Given the description of an element on the screen output the (x, y) to click on. 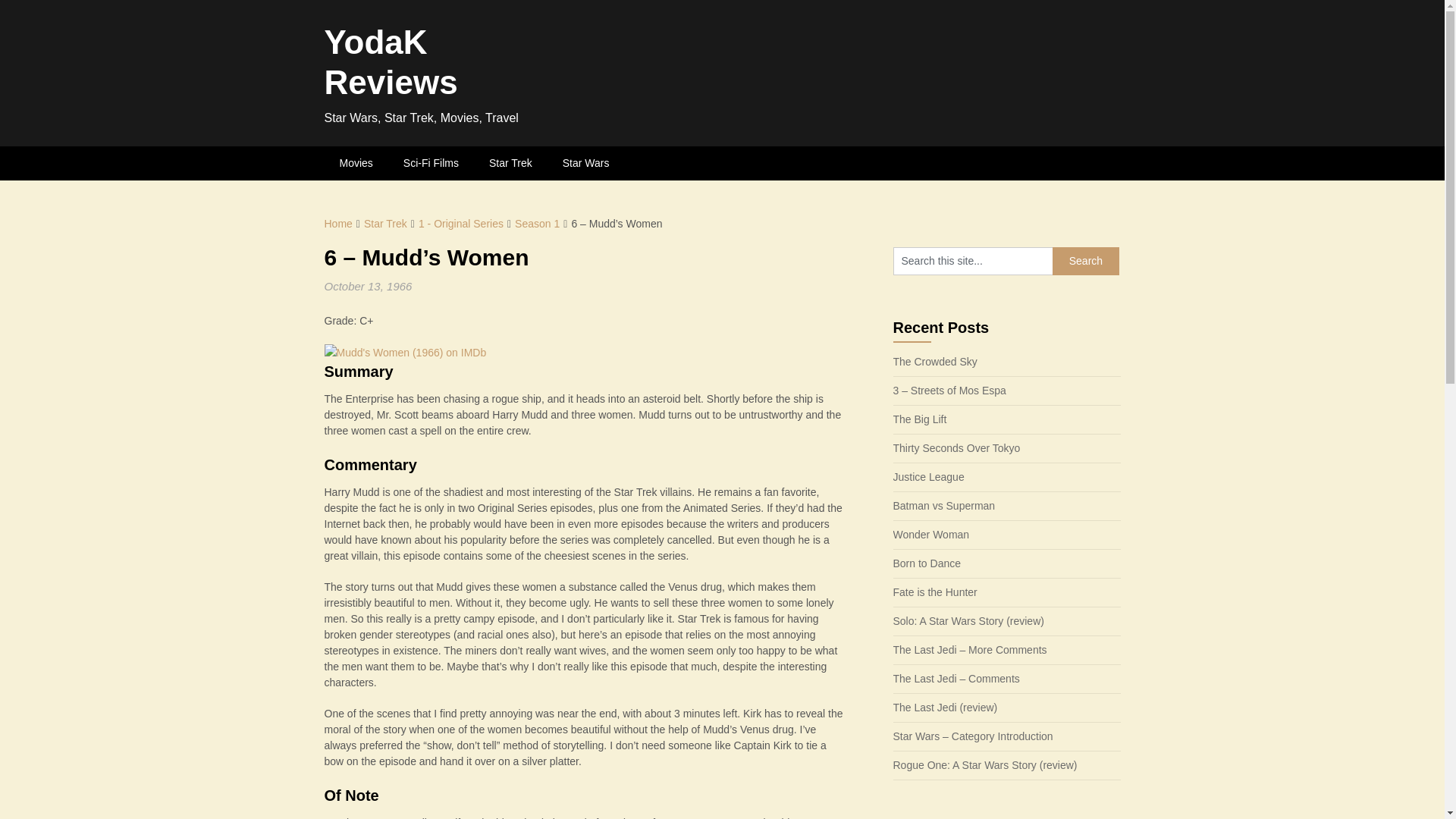
Search (1085, 261)
Movies (356, 163)
Search this site... (972, 261)
Star Trek (510, 163)
YodaK Reviews (391, 61)
Sci-Fi Films (431, 163)
